Given the description of an element on the screen output the (x, y) to click on. 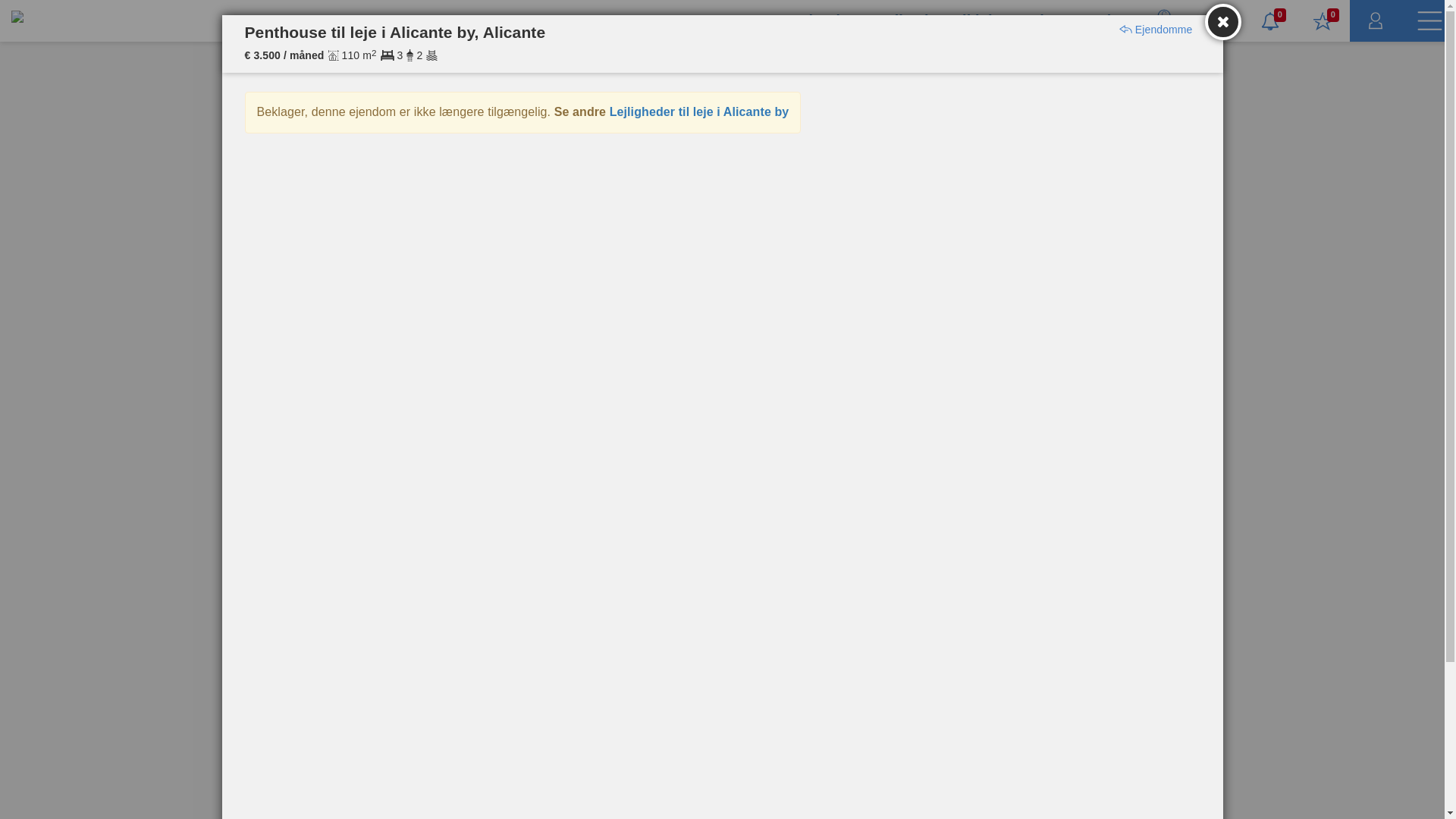
Ferier (1037, 20)
thinkSPAIN (57, 17)
valuta (1164, 20)
Ejendomme til salg (867, 20)
Gemt (1323, 20)
0 (1270, 20)
Ejendomme til salg (867, 20)
Katalog (1101, 20)
Ferier (1037, 20)
Katalog (1101, 20)
Til leje (977, 20)
Til leje (977, 20)
Alarmer (1270, 20)
